Given the description of an element on the screen output the (x, y) to click on. 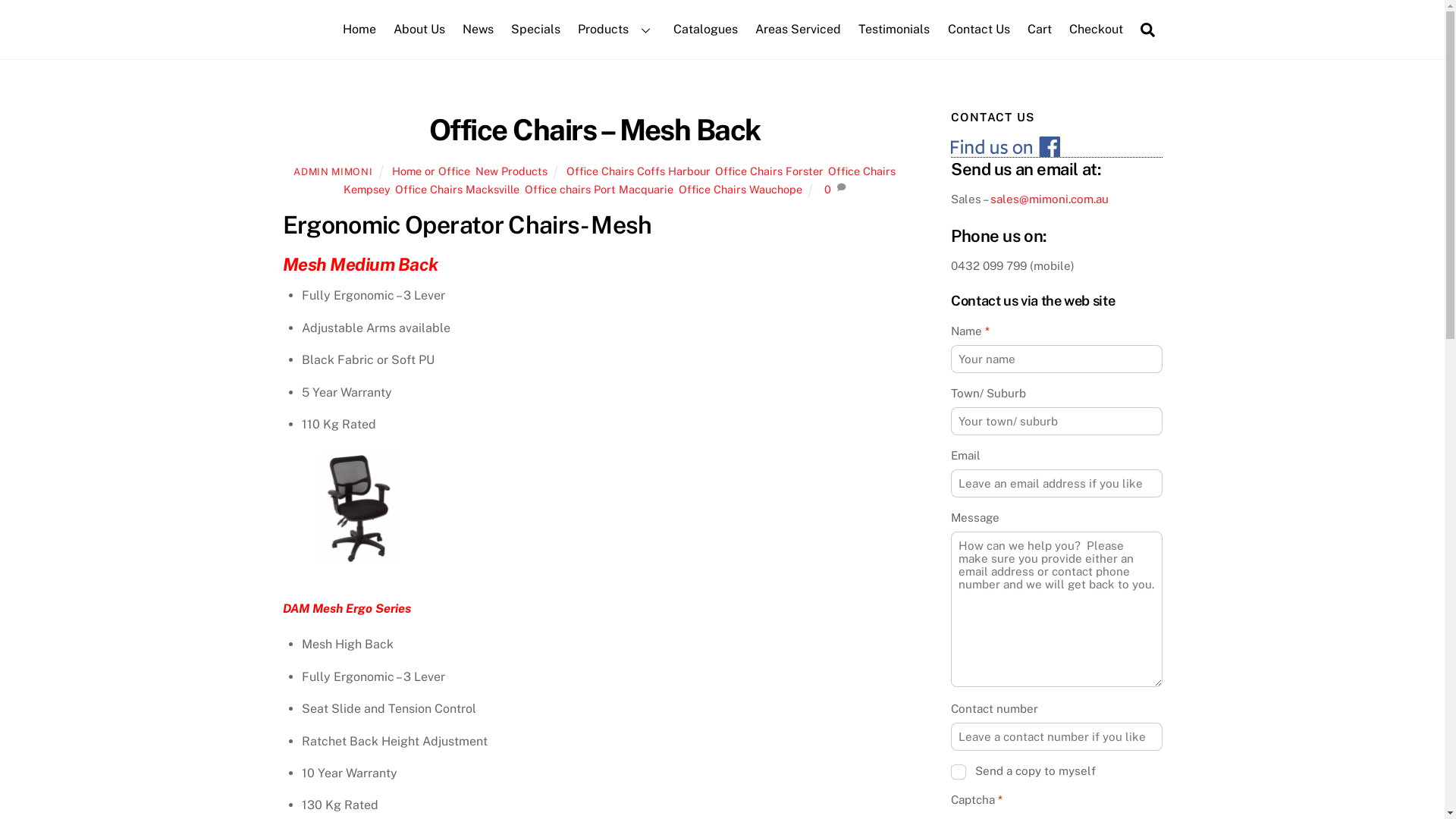
About Us Element type: text (418, 29)
Areas Serviced Element type: text (798, 29)
ADMIN MIMONI Element type: text (332, 171)
Office Chairs Forster Element type: text (768, 170)
Home Element type: text (358, 29)
News Element type: text (477, 29)
Specials Element type: text (535, 29)
Search Element type: text (1147, 28)
New Products Element type: text (511, 170)
Catalogues Element type: text (704, 29)
Office Chairs Wauchope Element type: text (740, 188)
sales@mimoni.com.au Element type: text (1049, 198)
Office Chairs Kempsey Element type: text (619, 179)
Office chairs Port Macquarie Element type: text (598, 188)
Office Chairs Macksville Element type: text (457, 188)
0 Element type: text (827, 188)
Checkout Element type: text (1095, 29)
Cart Element type: text (1038, 29)
Office Chairs Coffs Harbour Element type: text (637, 170)
Products Element type: text (617, 29)
Contact Us Element type: text (978, 29)
Home or Office Element type: text (431, 170)
Testimonials Element type: text (894, 29)
FB-FindUsonFacebook-online-144 Element type: hover (1005, 146)
